Given the description of an element on the screen output the (x, y) to click on. 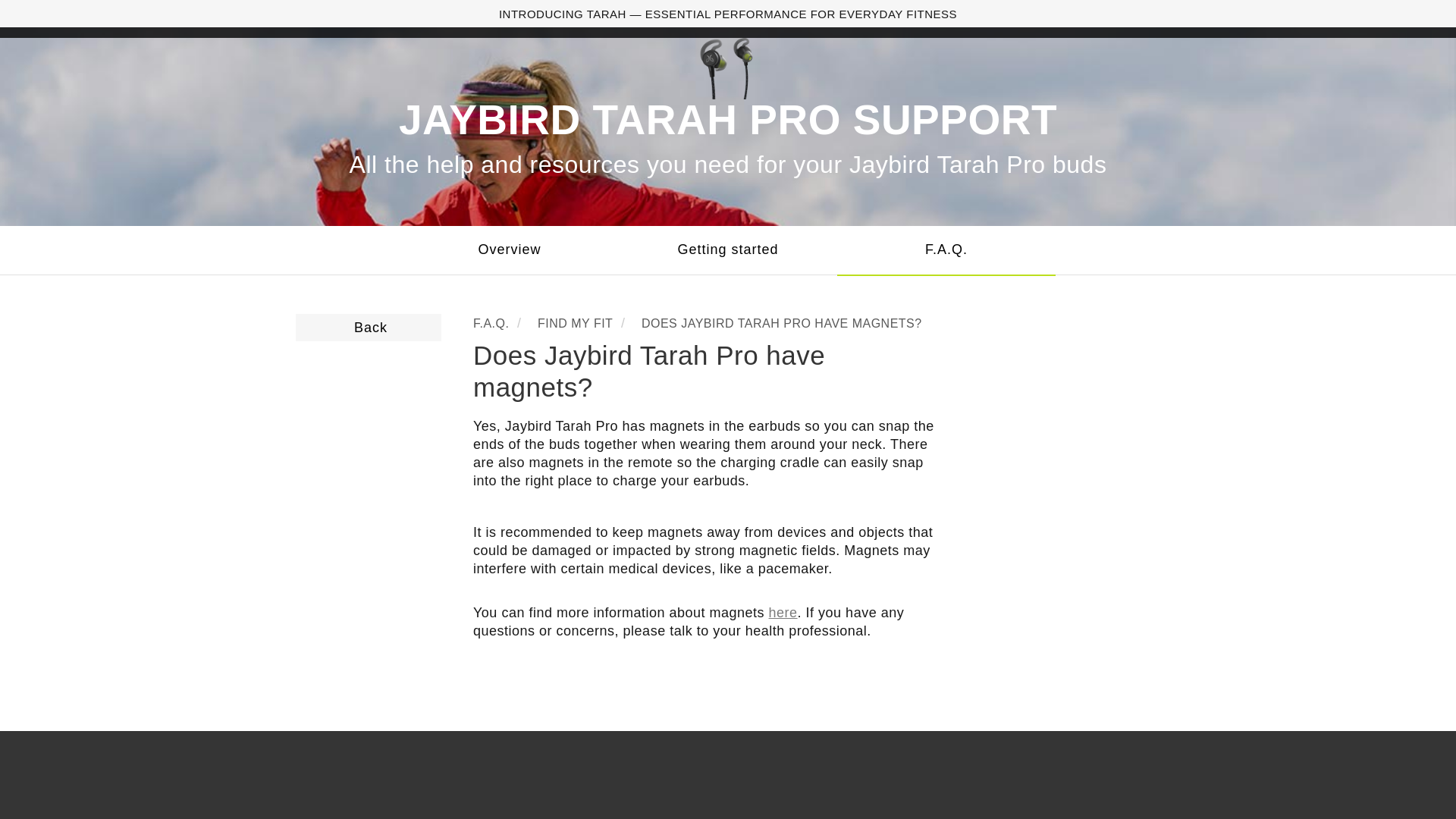
TARAH (862, 113)
X4 (700, 113)
SUPPORT (831, 18)
Accessories (1048, 117)
here (782, 612)
SHOP (433, 18)
Back (368, 327)
F.A.Q. (946, 251)
Shop All (1048, 139)
RUN WILD (747, 18)
